Given the description of an element on the screen output the (x, y) to click on. 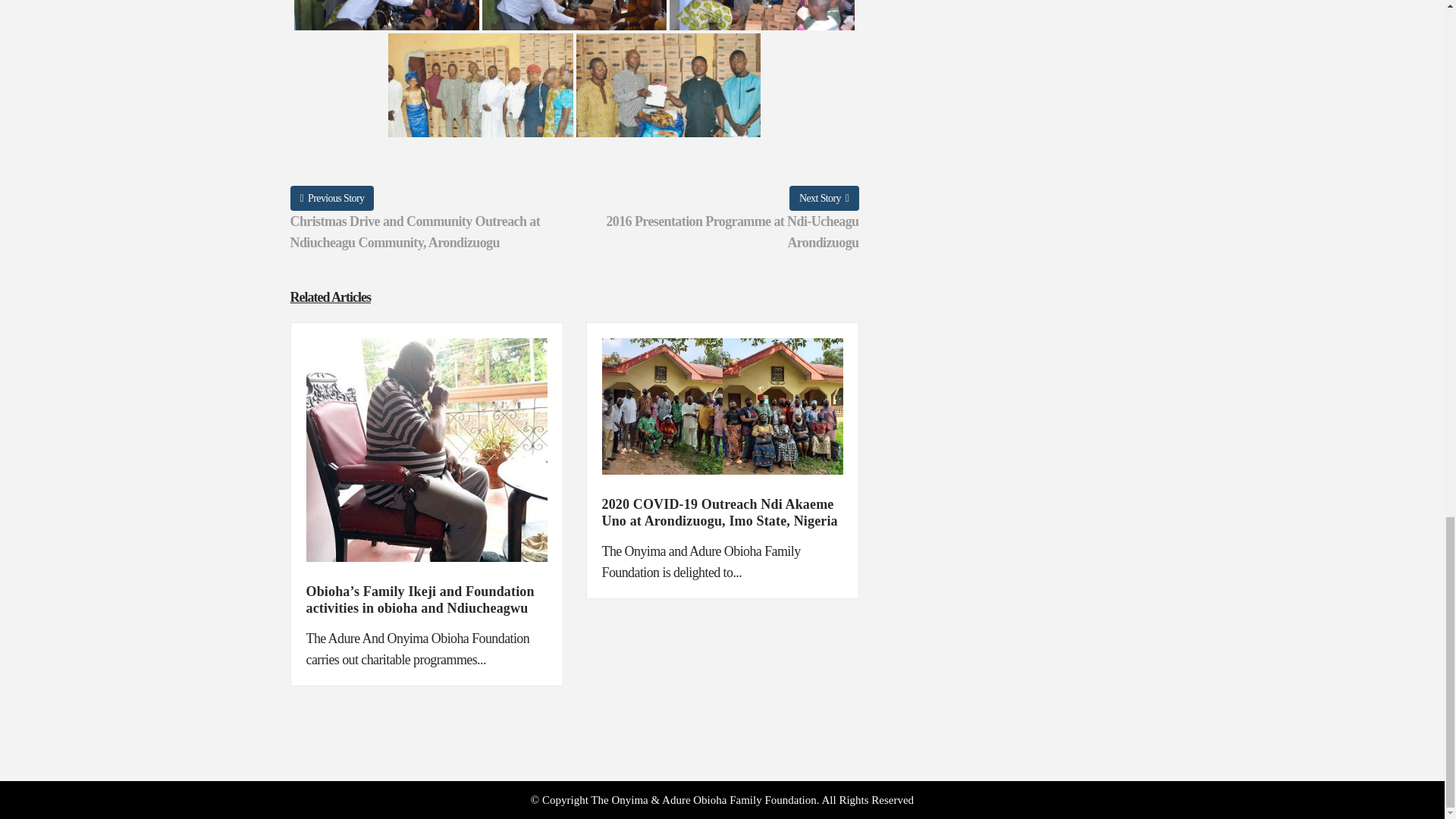
Foundation representative with Parish Priest (668, 84)
Parishioners recieving gifts from the Foundation (761, 20)
